Given the description of an element on the screen output the (x, y) to click on. 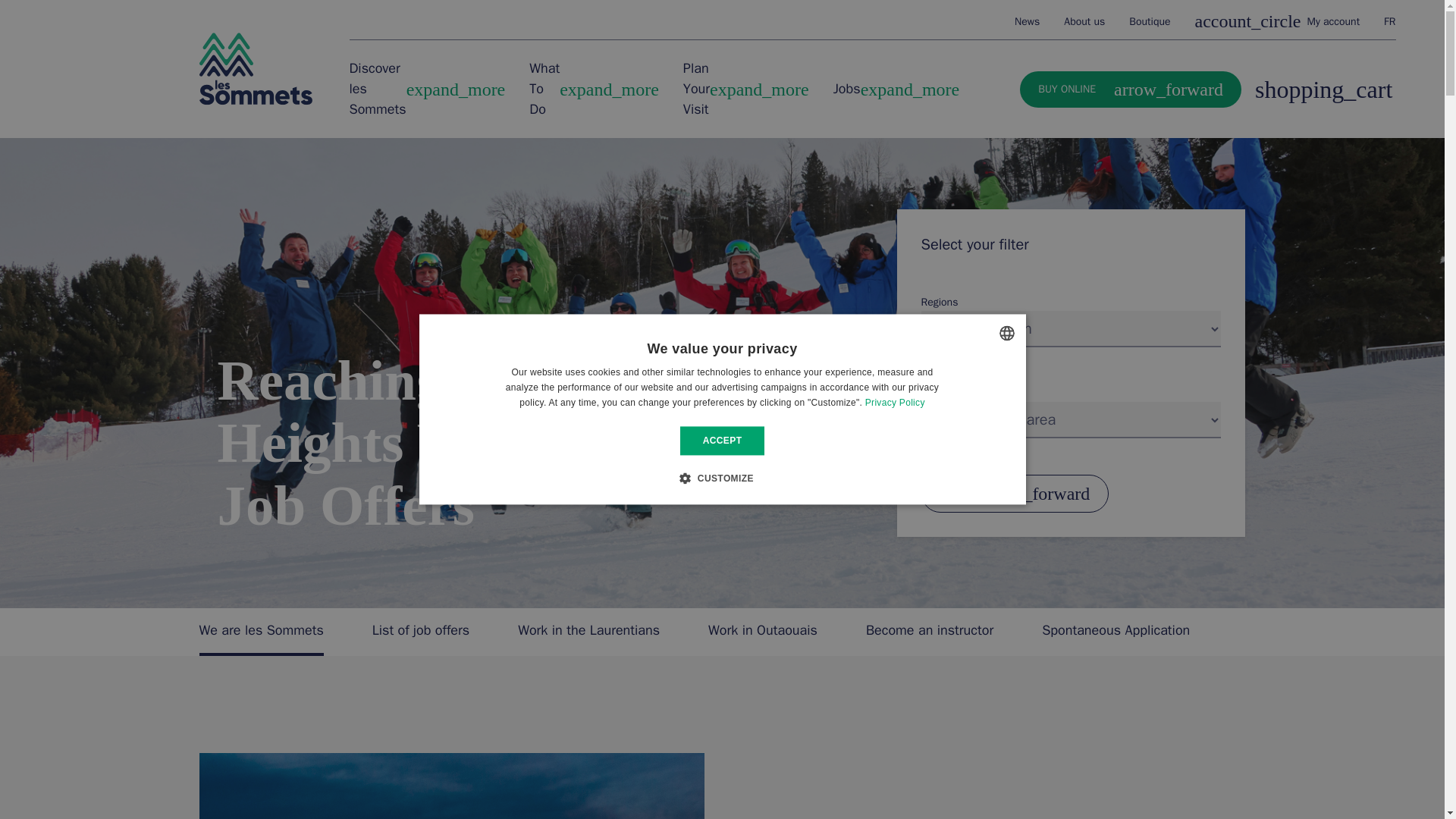
News (255, 68)
Boutique (1027, 19)
About us (1149, 19)
